Given the description of an element on the screen output the (x, y) to click on. 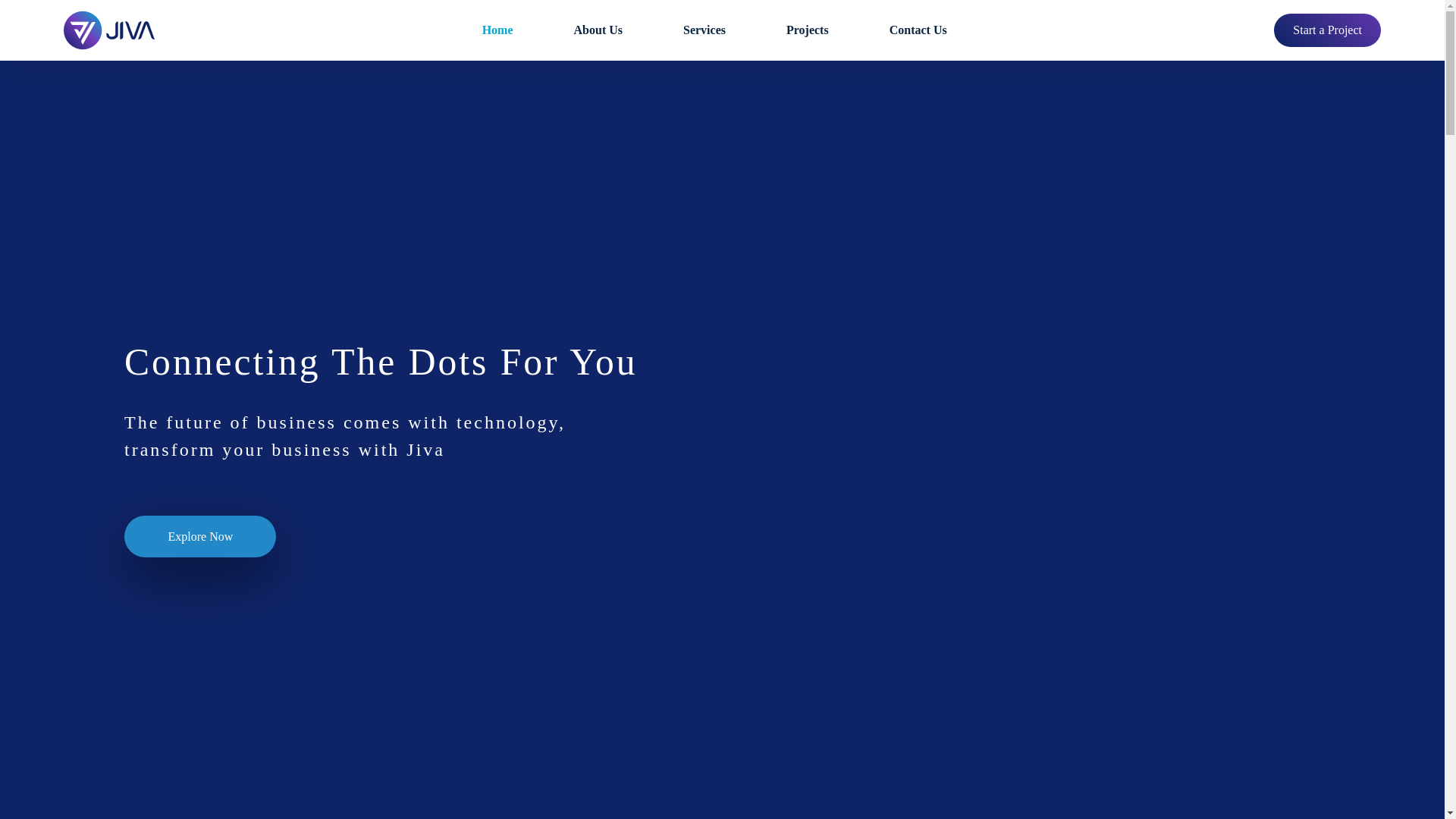
Explore Now (199, 536)
About Us (598, 30)
Home (497, 30)
Projects (807, 30)
Explore Now (199, 521)
Start a Project (1327, 29)
Services (704, 30)
Contact Us (918, 30)
